Given the description of an element on the screen output the (x, y) to click on. 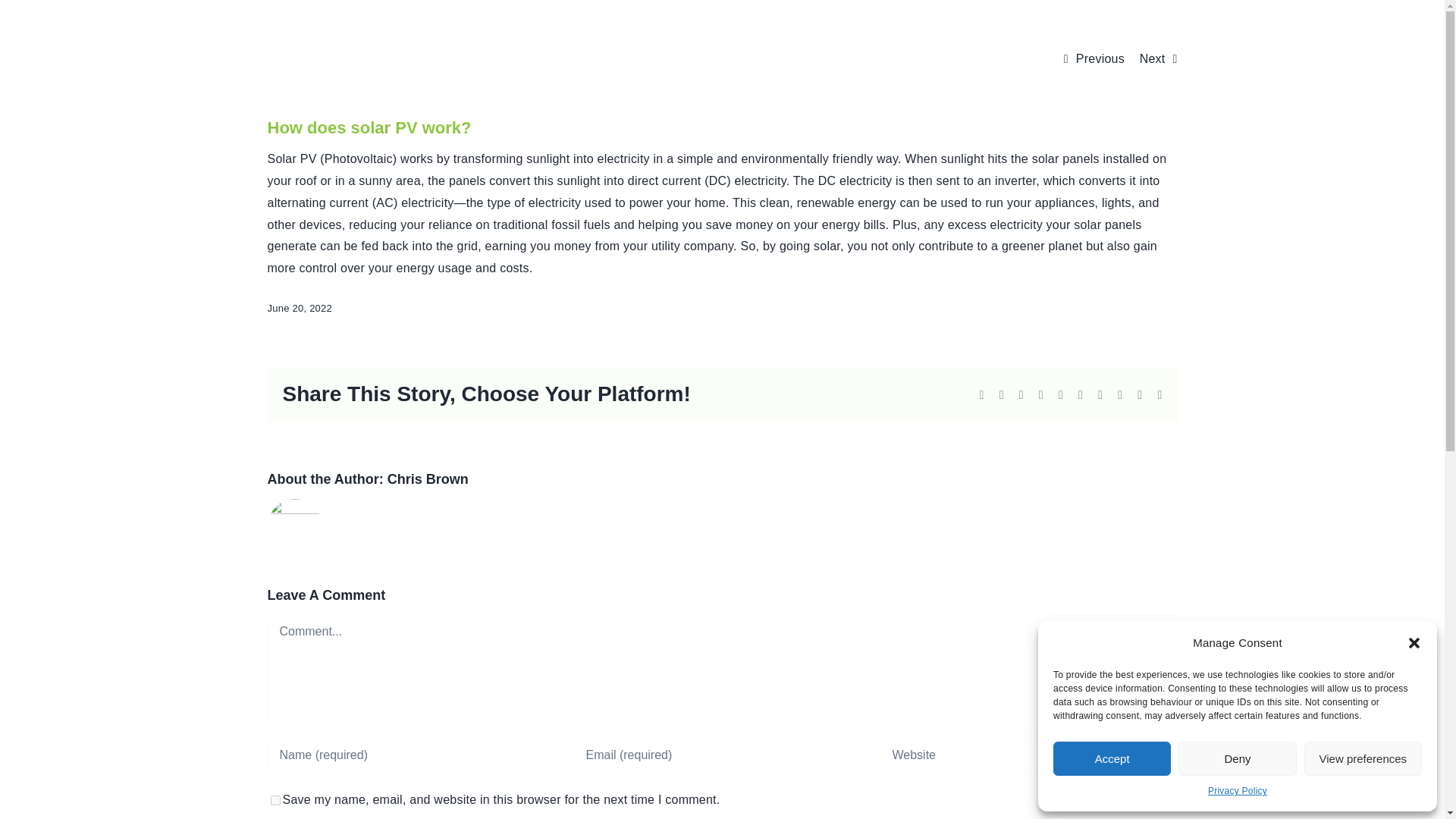
Posts by Chris Brown (427, 478)
Chris Brown (427, 478)
Deny (1236, 758)
Next (1153, 58)
Privacy Policy (1237, 791)
yes (274, 800)
Previous (1099, 58)
View preferences (1363, 758)
Accept (1111, 758)
